Given the description of an element on the screen output the (x, y) to click on. 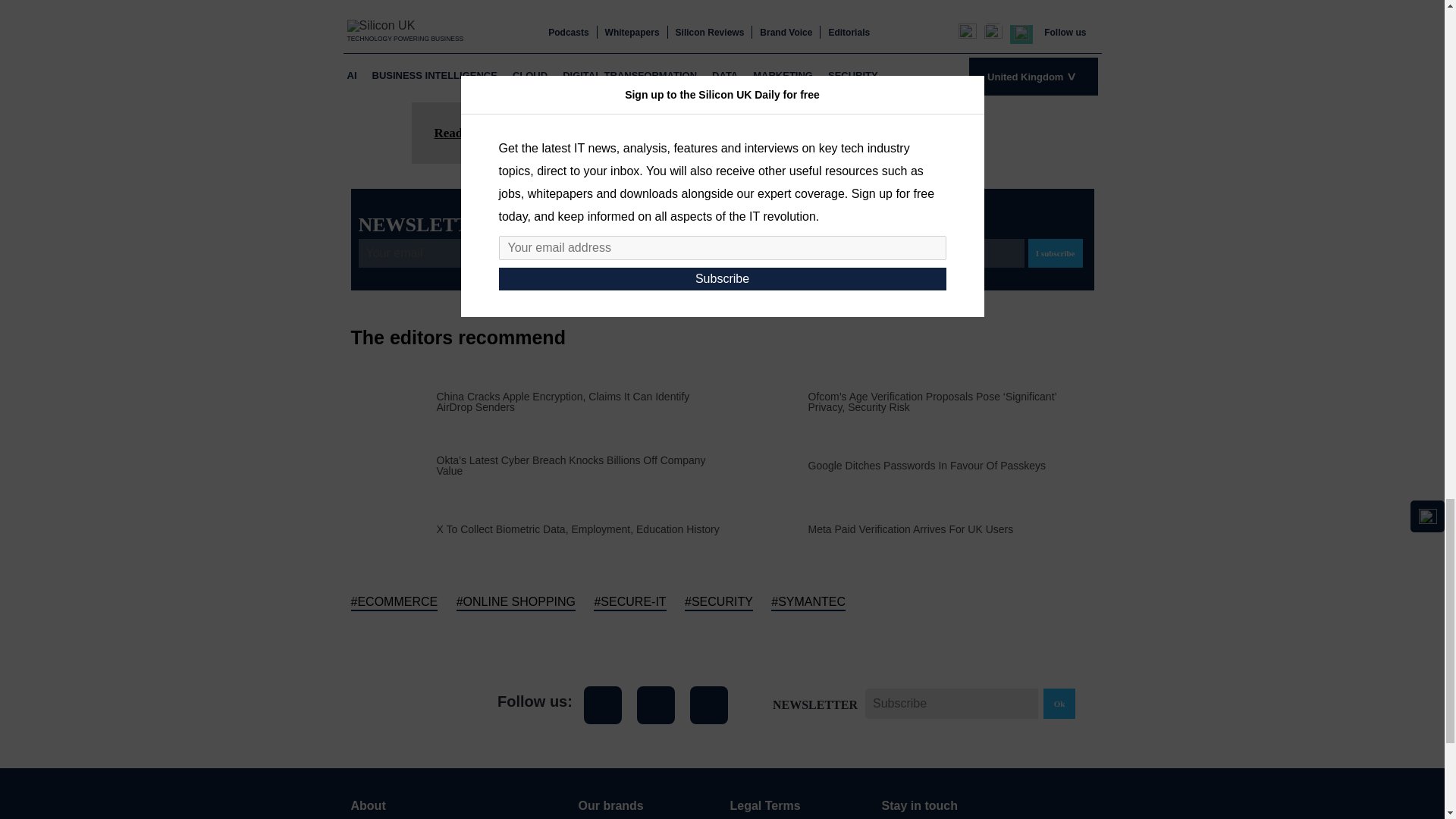
X To Collect Biometric Data, Employment, Education History (577, 529)
Google Ditches Passwords In Favour Of Passkeys (927, 465)
